Given the description of an element on the screen output the (x, y) to click on. 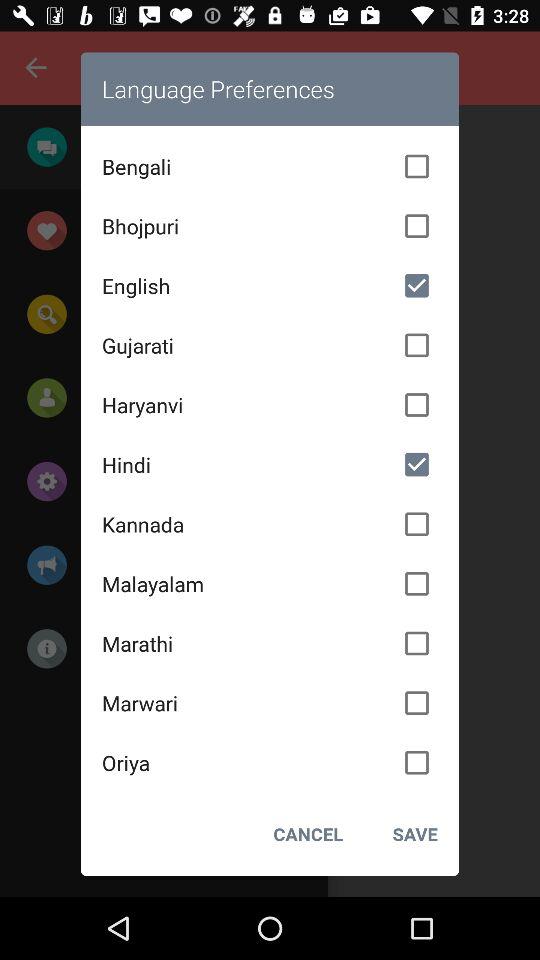
jump to hindi (270, 464)
